Given the description of an element on the screen output the (x, y) to click on. 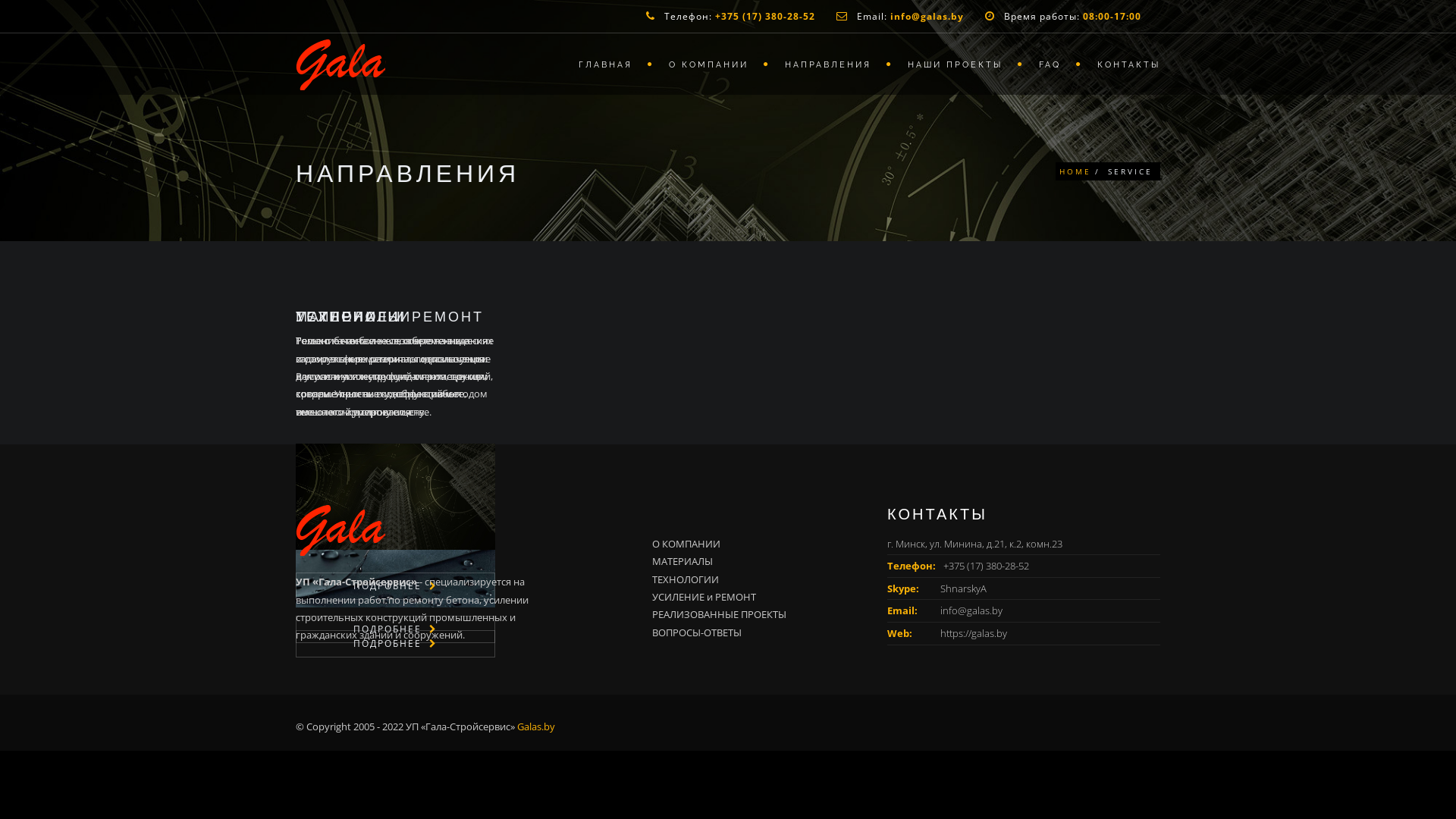
FAQ Element type: text (1052, 63)
01_usilenie_balok_zaggo_ru Element type: hover (395, 518)
Galas.by Element type: text (536, 726)
HOME Element type: text (1075, 171)
Architecture Blueprint Element type: hover (395, 496)
b723a939-dc34-4101-a644-bf67b44d1223w-2 Element type: hover (395, 525)
info@galas.by Element type: text (971, 610)
https://galas.by Element type: text (973, 633)
